Given the description of an element on the screen output the (x, y) to click on. 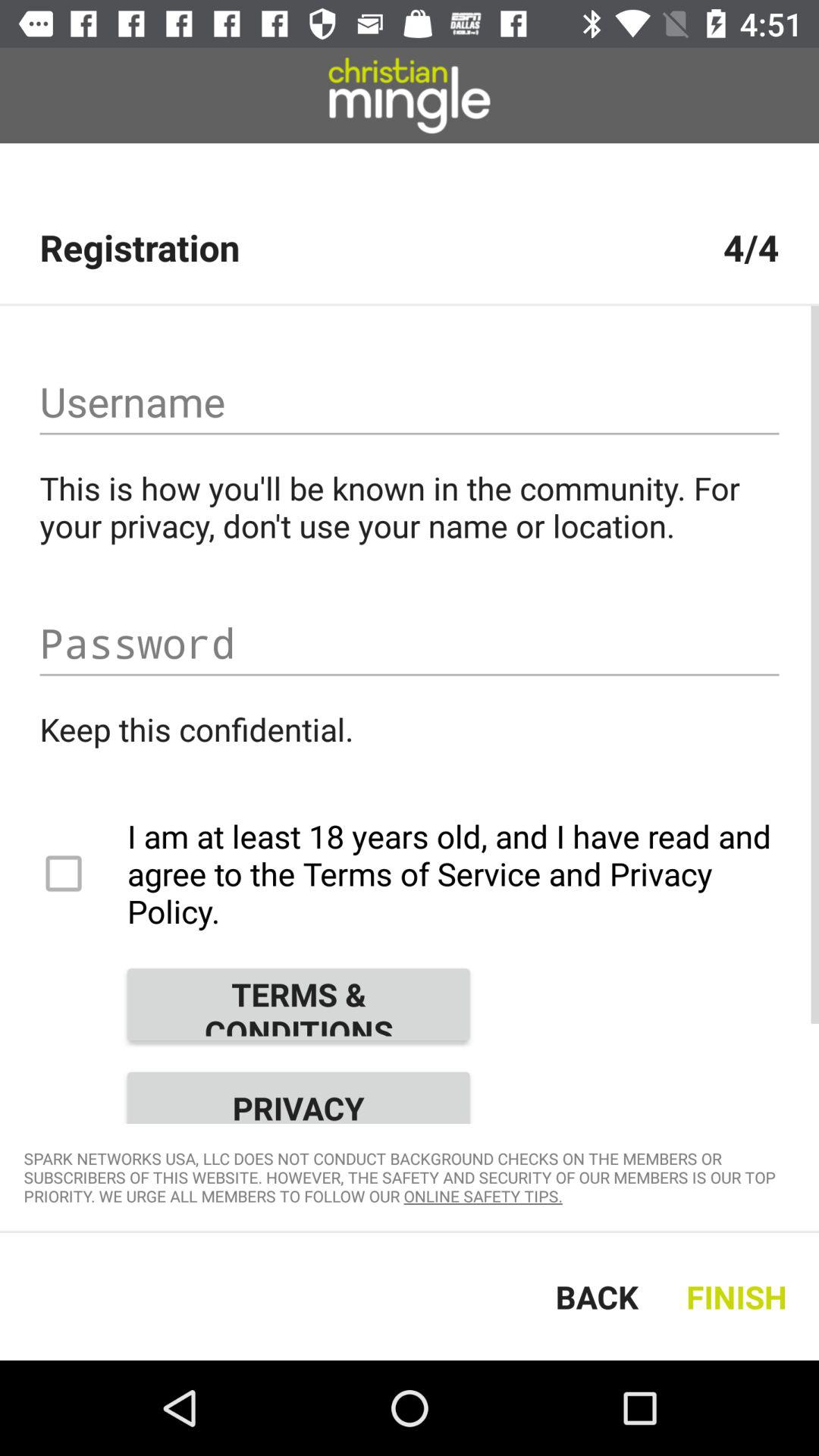
flip until i am at item (409, 873)
